Given the description of an element on the screen output the (x, y) to click on. 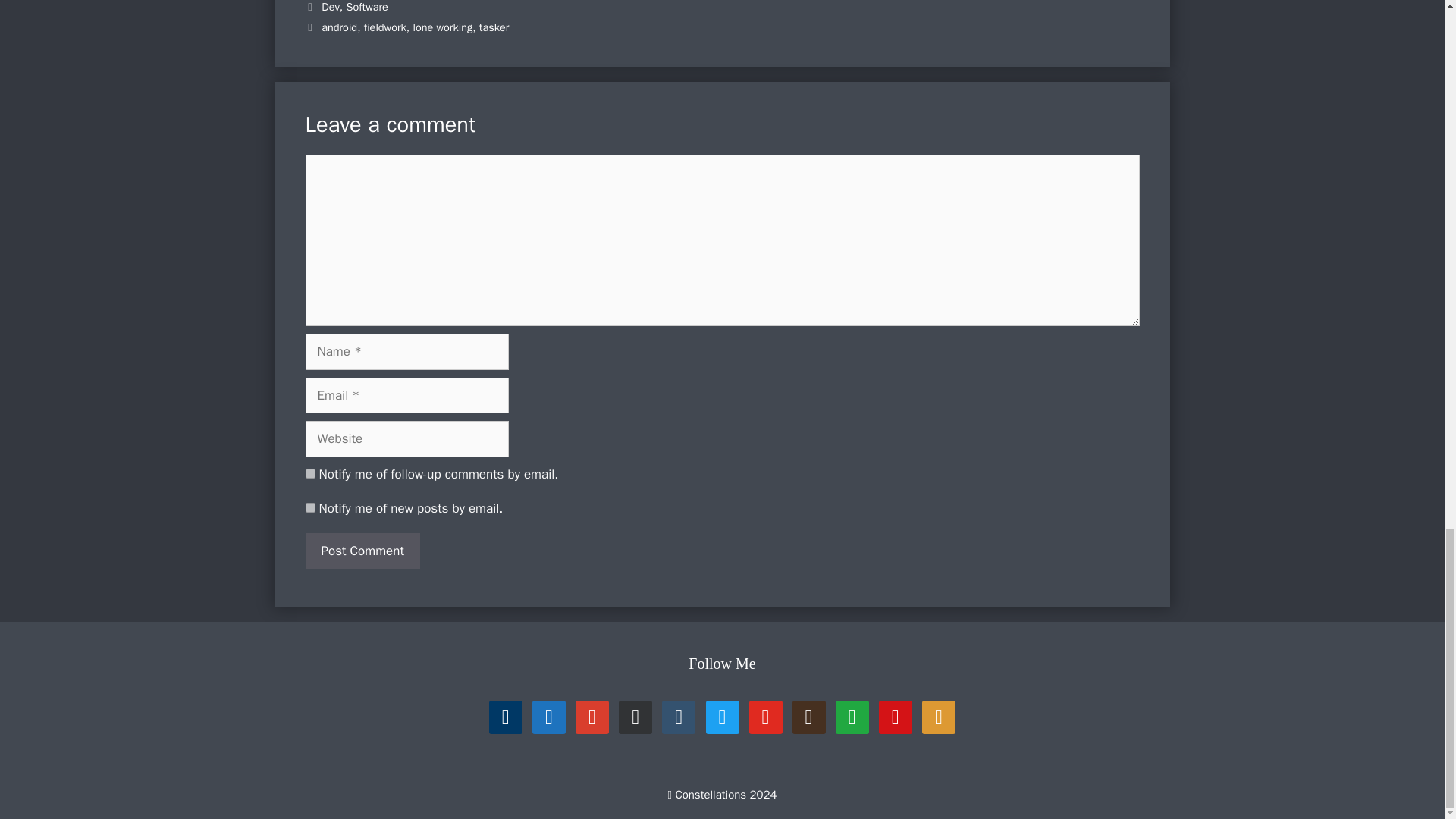
university (505, 716)
Post Comment (361, 551)
orcid (549, 716)
Post Comment (361, 551)
Default Label (505, 716)
subscribe (309, 507)
subscribe (309, 473)
google-scholar (591, 716)
android (338, 27)
tasker (494, 27)
Default Label (635, 716)
fieldwork (385, 27)
Dev (330, 6)
Software (366, 6)
Default Label (591, 716)
